Given the description of an element on the screen output the (x, y) to click on. 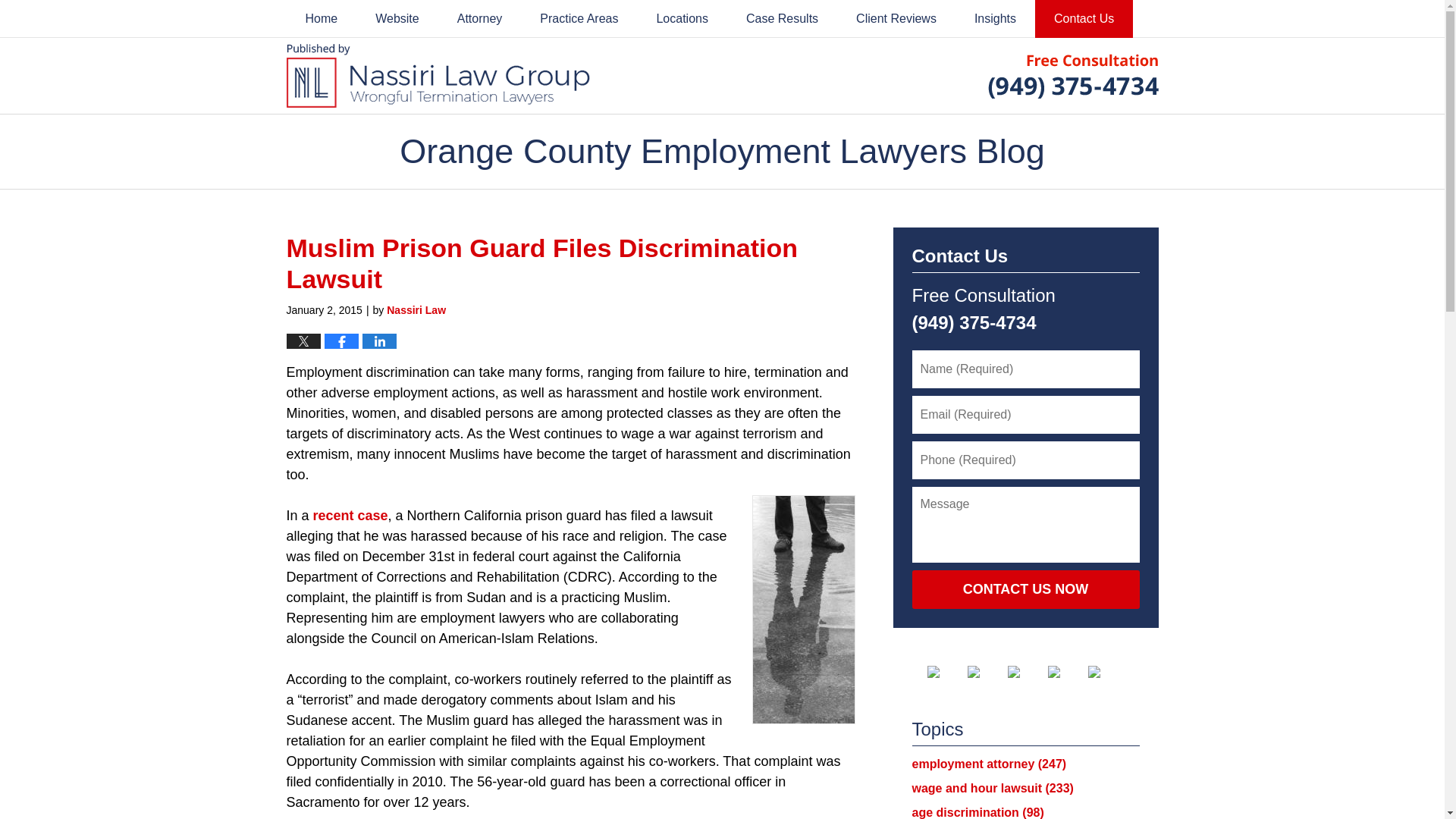
Locations (681, 18)
Facebook (944, 671)
Practice Areas (579, 18)
Website (397, 18)
LinkedIn (1025, 671)
Justia (1066, 671)
Contact Us (1083, 18)
Insights (995, 18)
Nassiri Law (416, 309)
Published By Nassiri Law (1072, 75)
